Given the description of an element on the screen output the (x, y) to click on. 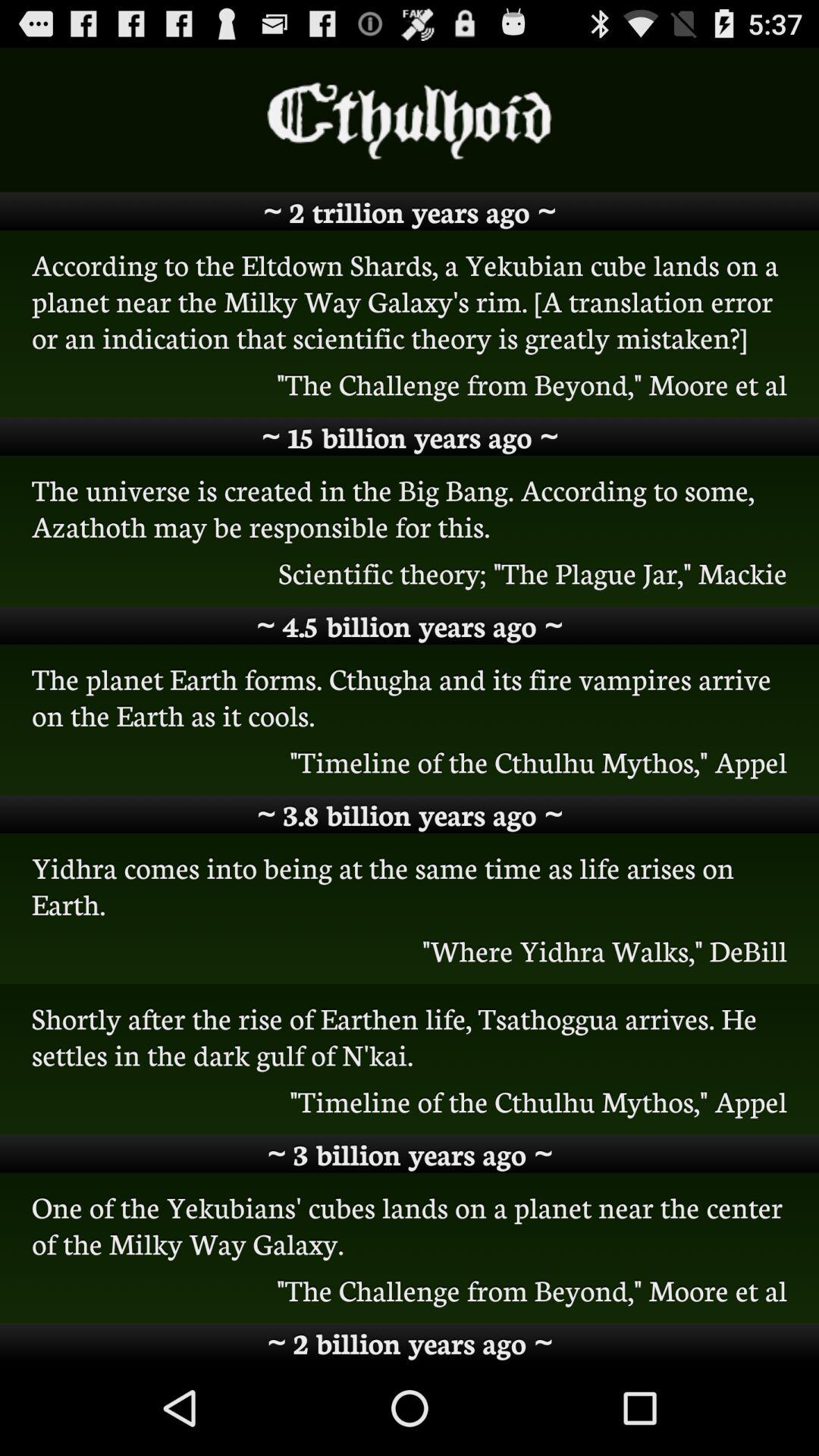
tap icon below the universe is icon (409, 572)
